Given the description of an element on the screen output the (x, y) to click on. 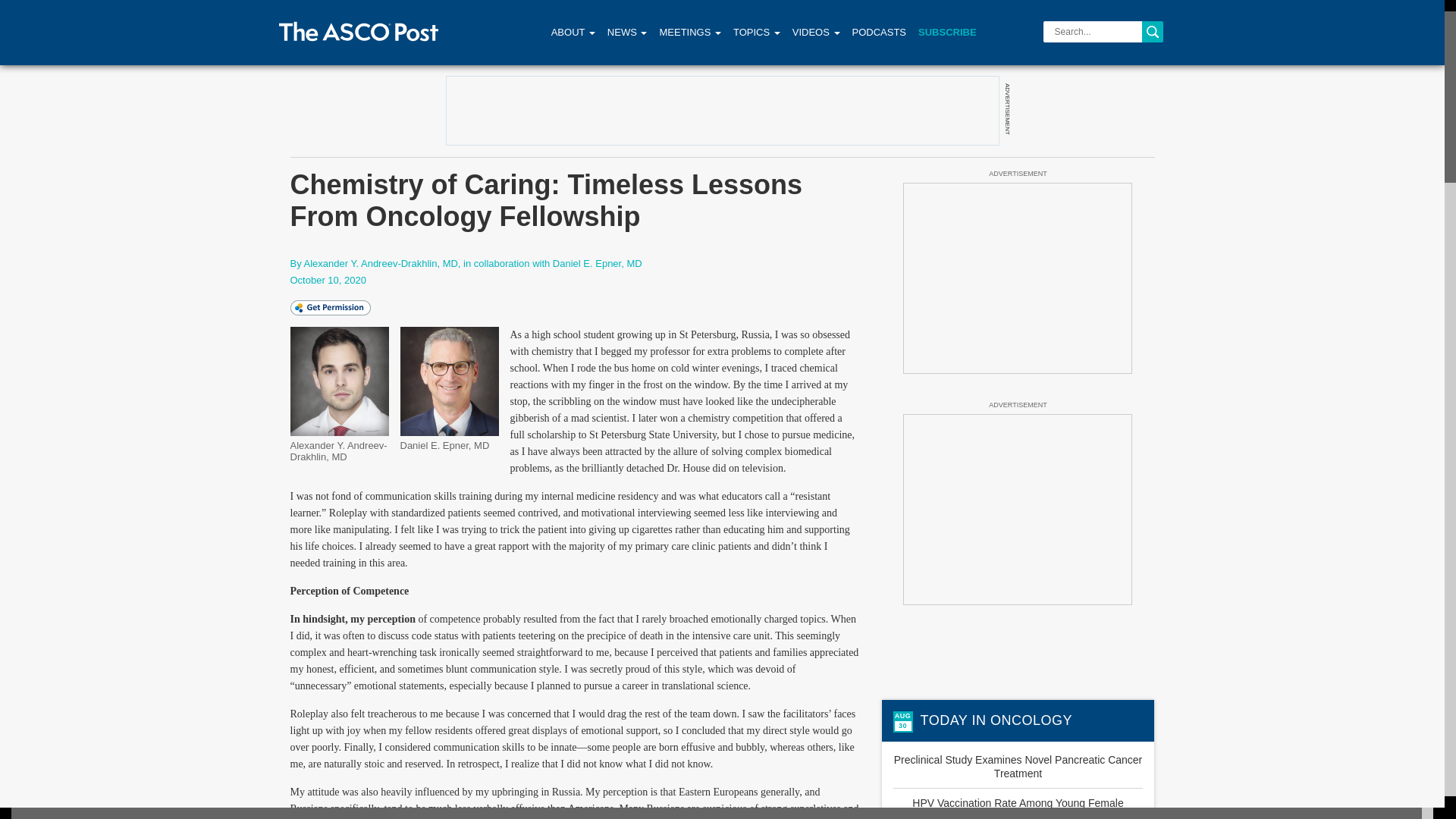
NEWS (627, 32)
3rd party ad content (1017, 278)
SUBSCRIBE (947, 32)
SUBSCRIBE (947, 32)
VIDEOS (815, 32)
3rd party ad content (721, 110)
3rd party ad content (1017, 509)
PODCASTS (878, 32)
